Given the description of an element on the screen output the (x, y) to click on. 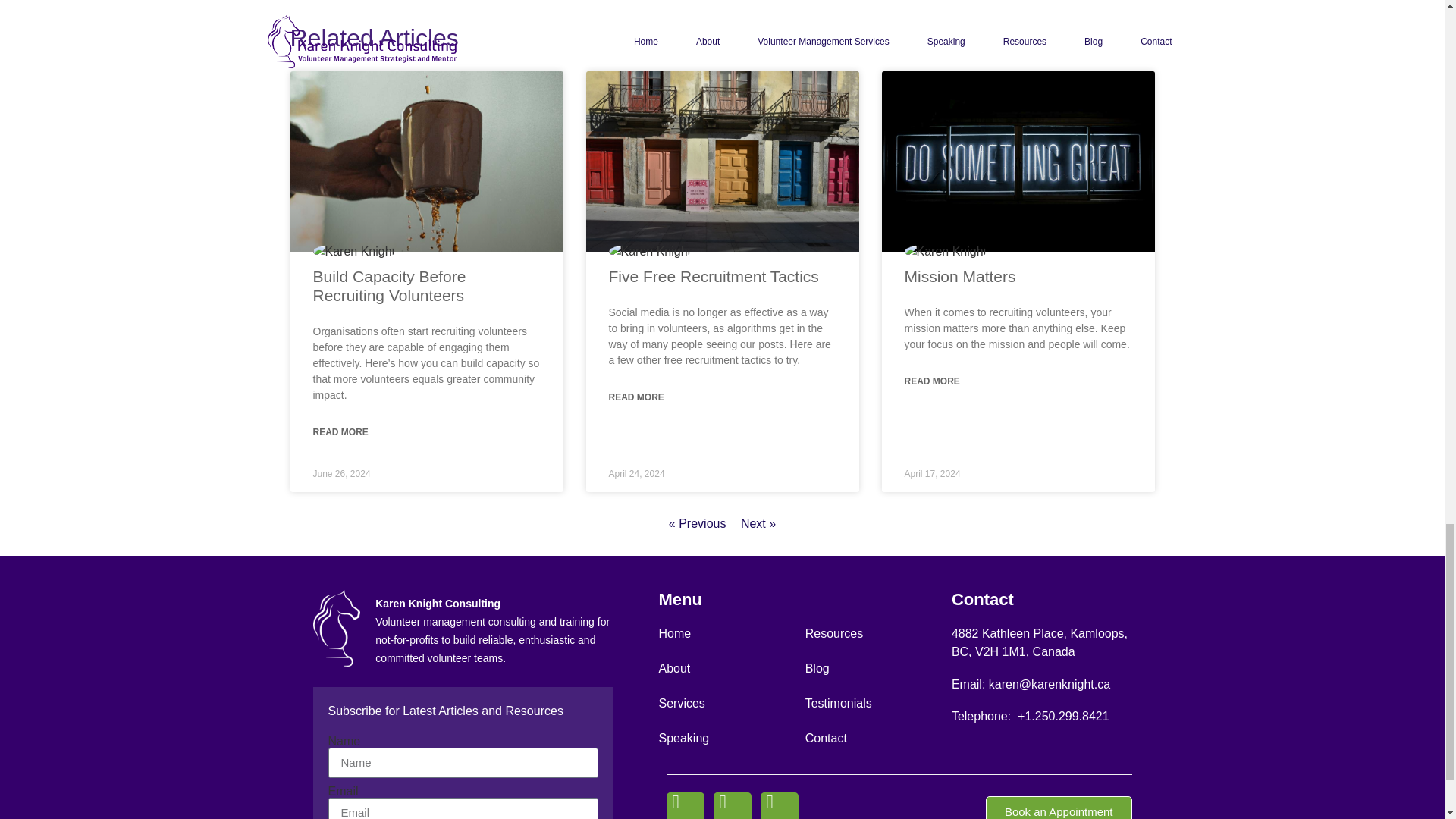
READ MORE (340, 432)
Build Capacity Before Recruiting Volunteers (389, 285)
